Given the description of an element on the screen output the (x, y) to click on. 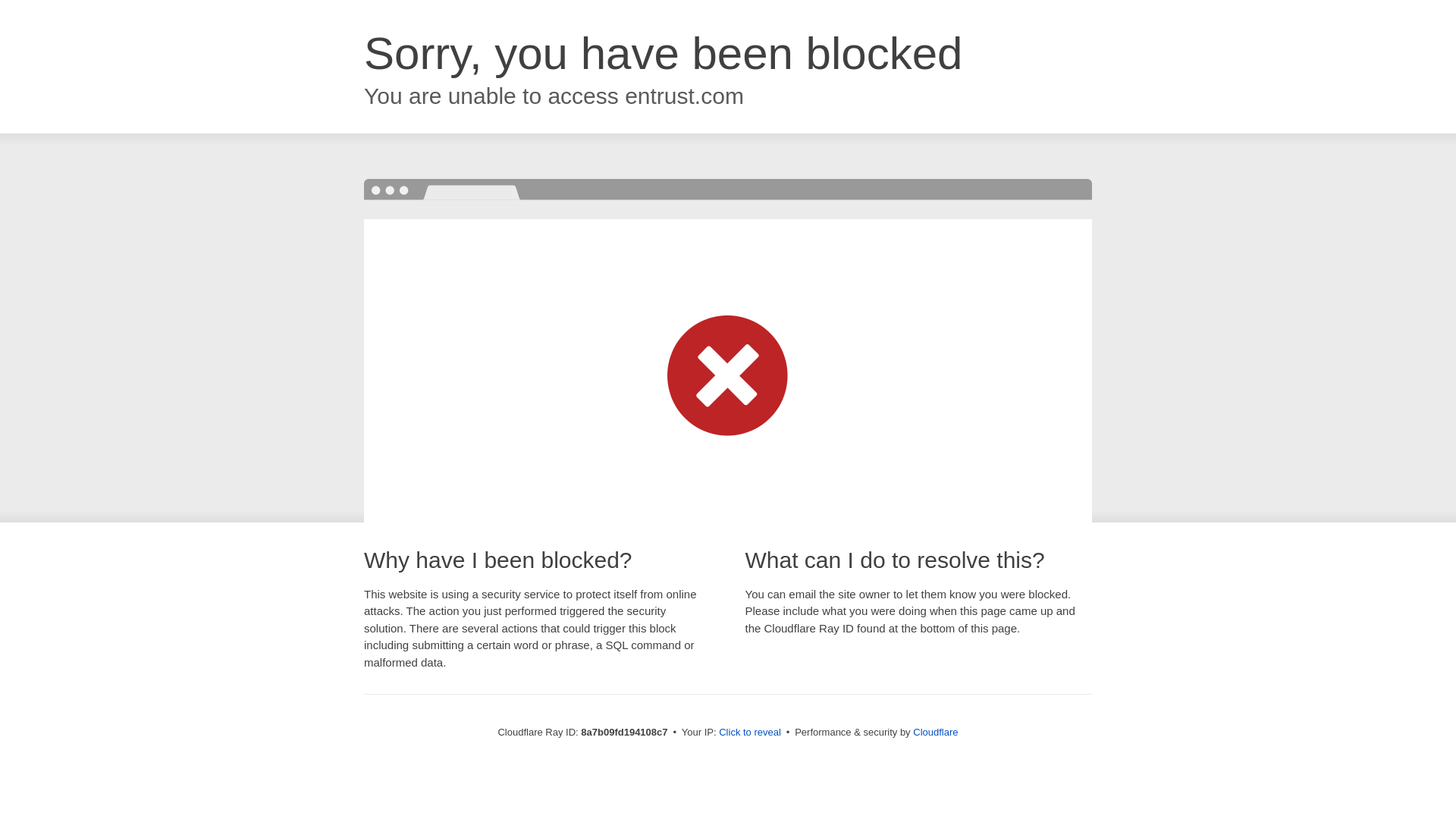
Click to reveal (749, 732)
Cloudflare (935, 731)
